Given the description of an element on the screen output the (x, y) to click on. 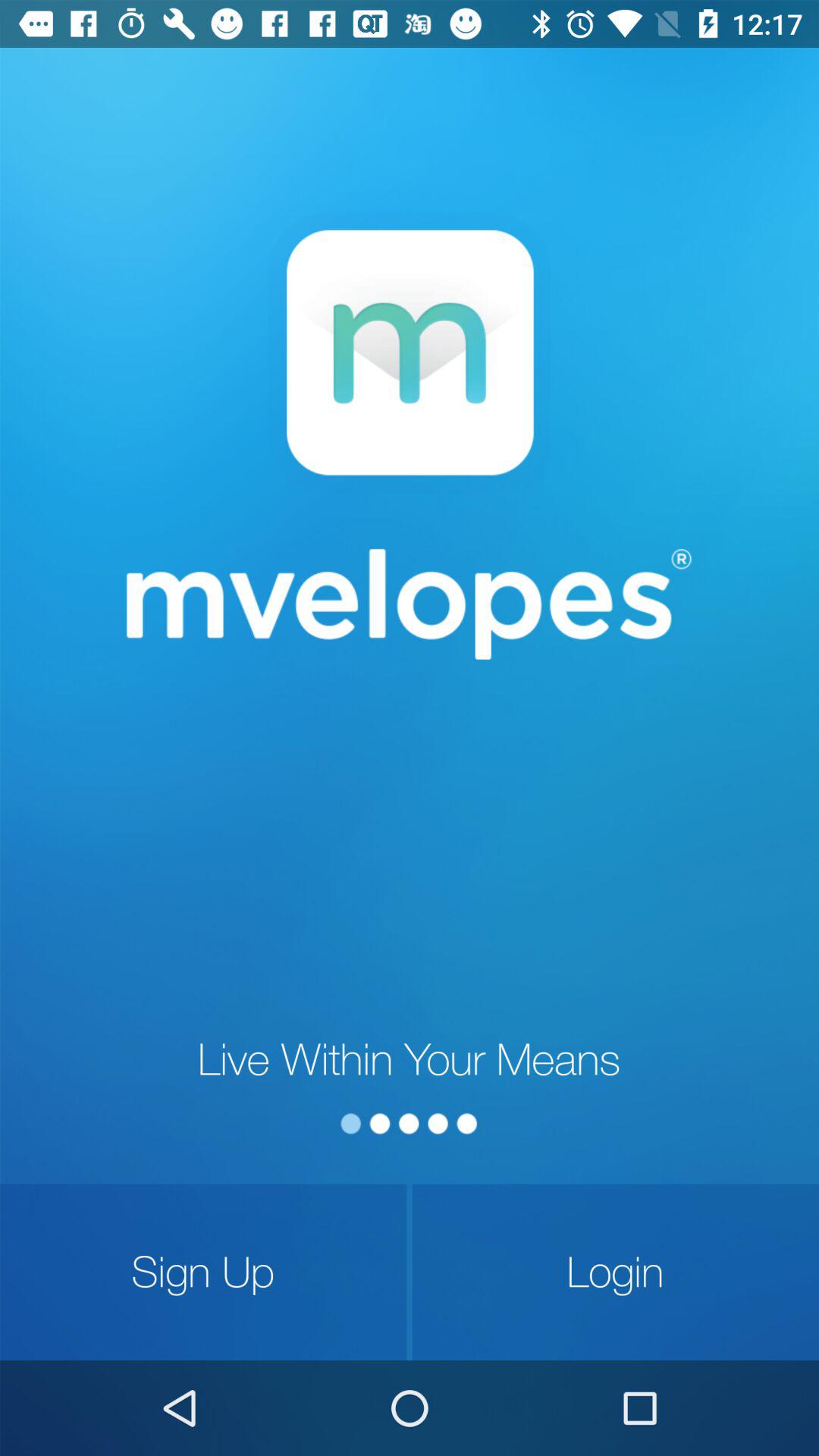
click the login (615, 1272)
